Given the description of an element on the screen output the (x, y) to click on. 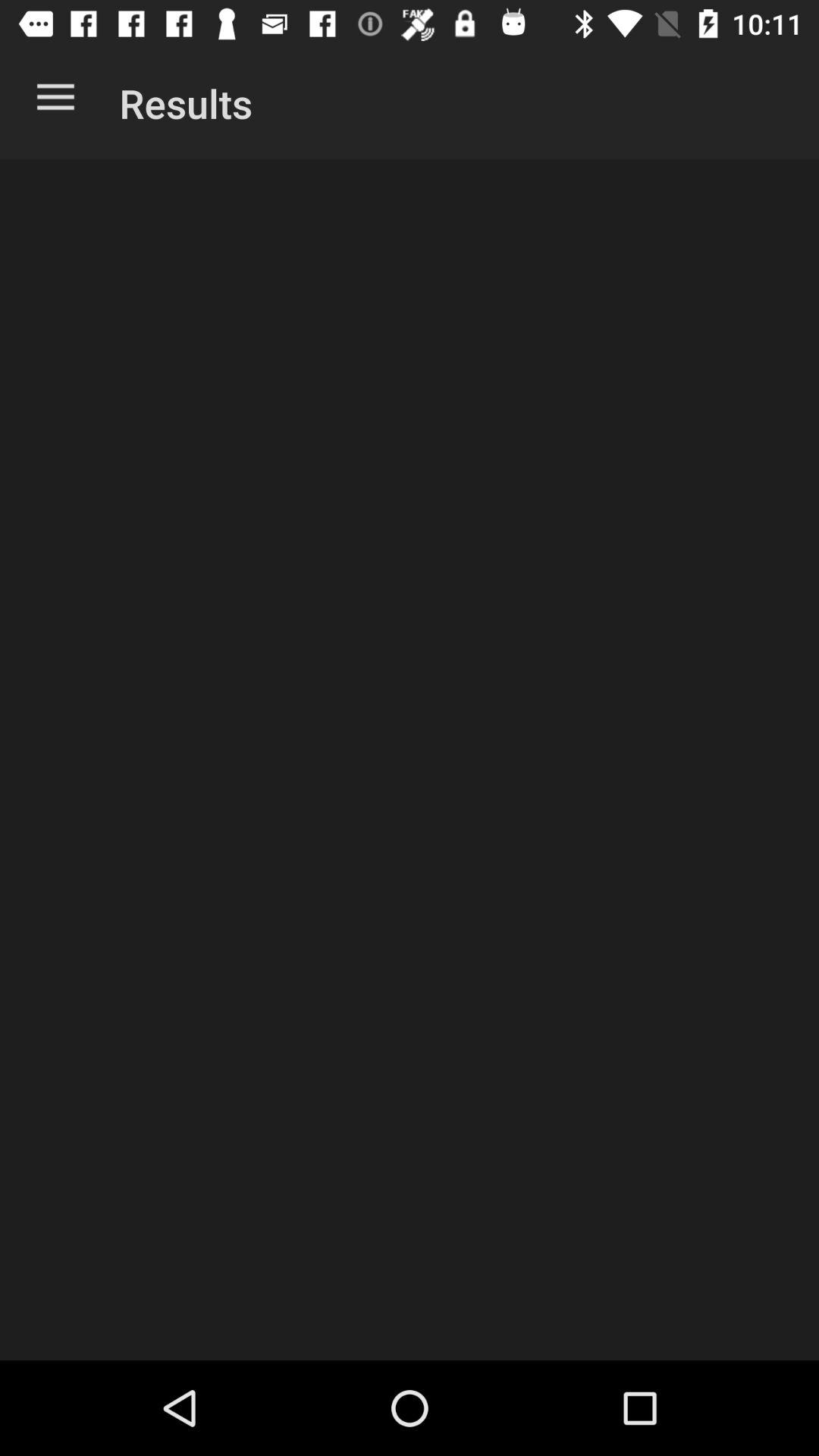
turn off item next to the results (55, 100)
